Given the description of an element on the screen output the (x, y) to click on. 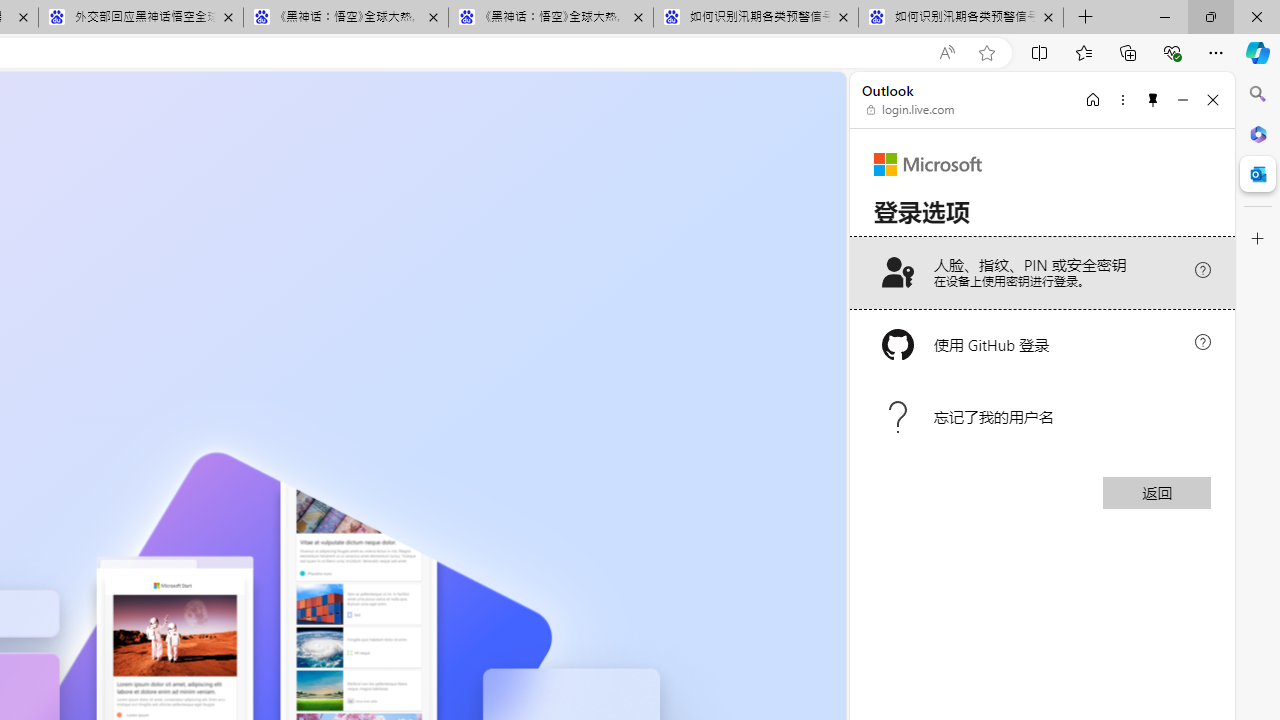
Microsoft (927, 164)
